Given the description of an element on the screen output the (x, y) to click on. 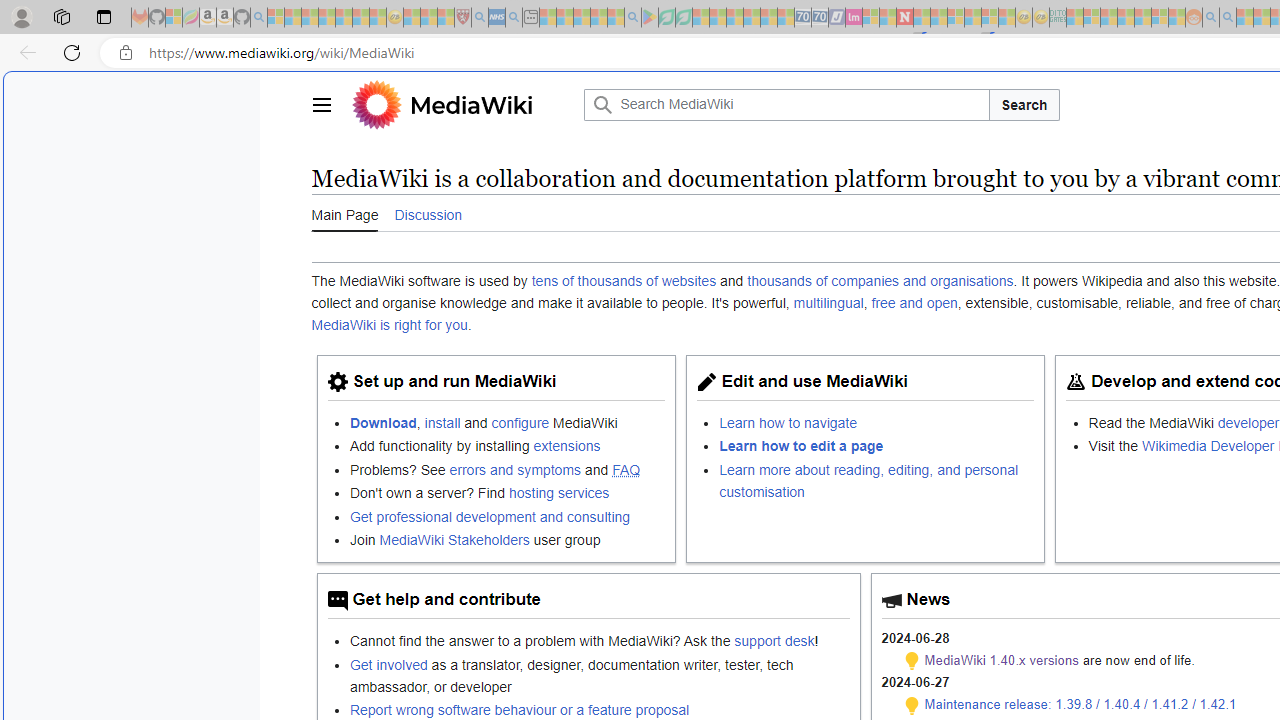
Join MediaWiki Stakeholders user group (507, 538)
Learn how to navigate (788, 422)
Get professional development and consulting (507, 515)
Learn how to edit a page (801, 446)
Learn how to navigate (877, 422)
tens of thousands of websites (623, 281)
Search MediaWiki (785, 104)
